Given the description of an element on the screen output the (x, y) to click on. 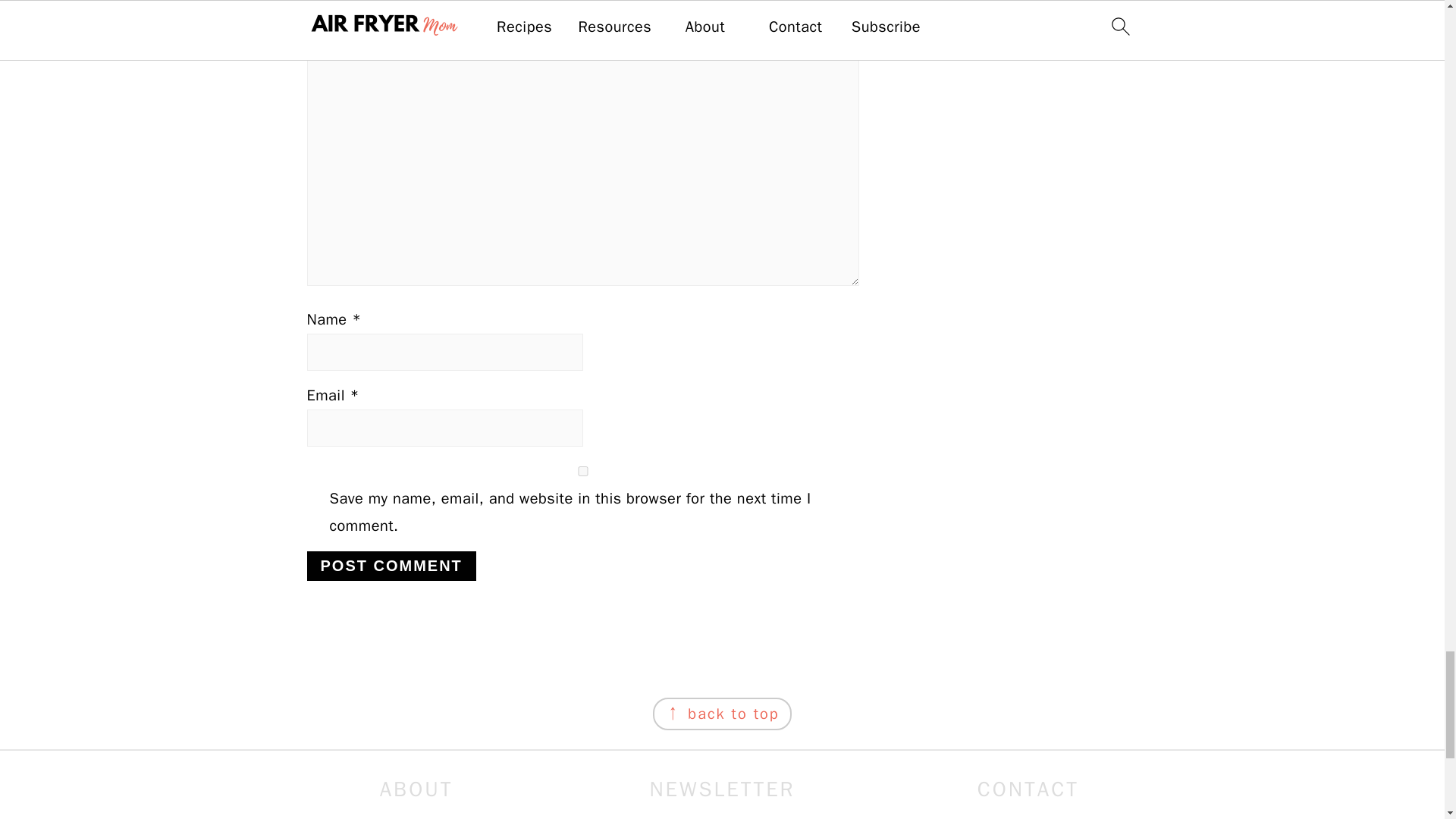
Post Comment (390, 565)
yes (582, 470)
Post Comment (390, 565)
